Given the description of an element on the screen output the (x, y) to click on. 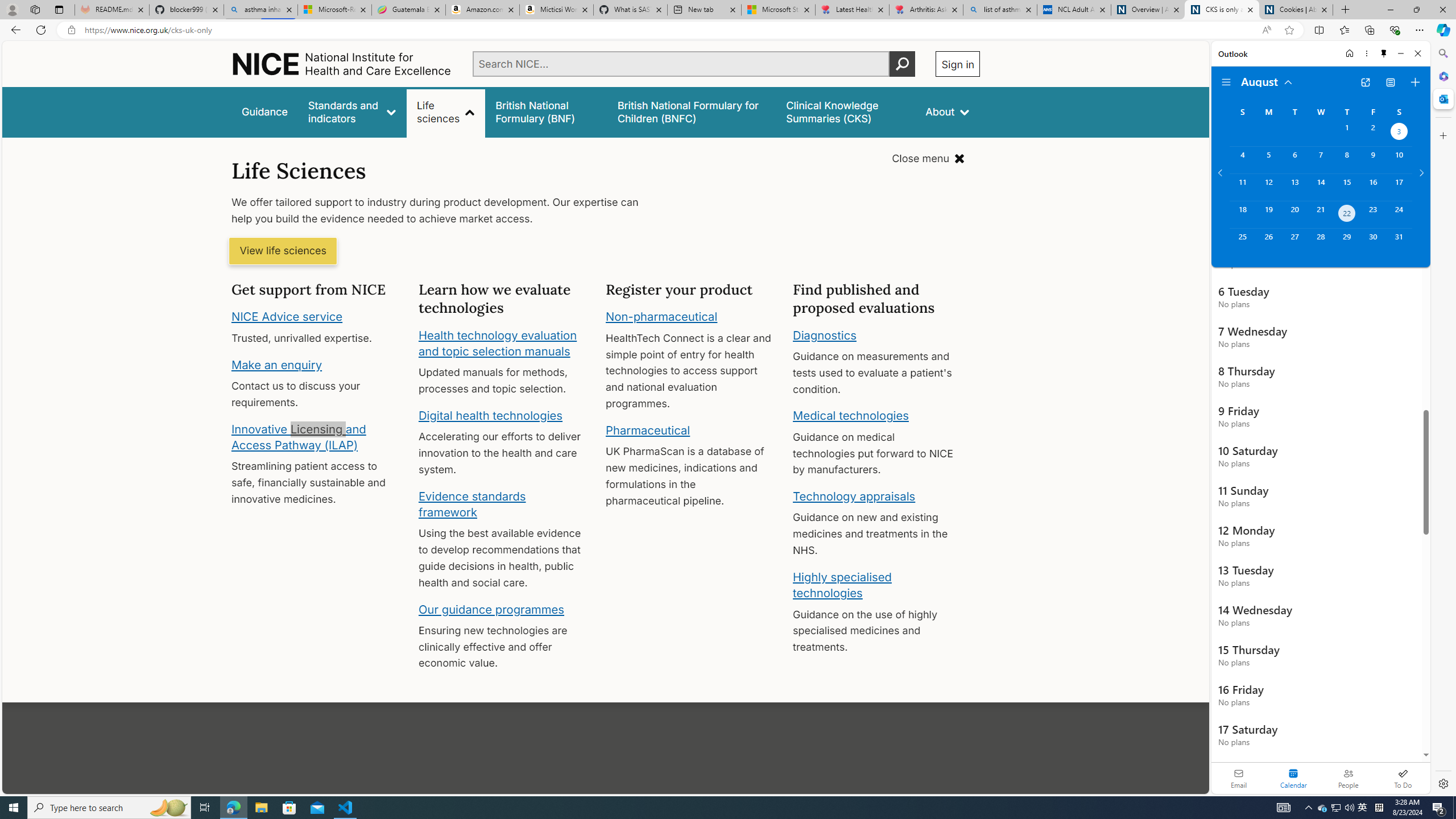
British National Formulary for Children (BNFC) (691, 111)
Thursday, August 22, 2024. Today.  (1346, 214)
Health technology evaluation and topic selection manuals (496, 342)
Monday, August 12, 2024.  (1268, 186)
Diagnostics (824, 334)
Thursday, August 15, 2024.  (1346, 186)
Open in new tab (1365, 82)
Email (1238, 777)
Cookies | About | NICE (1295, 9)
